Given the description of an element on the screen output the (x, y) to click on. 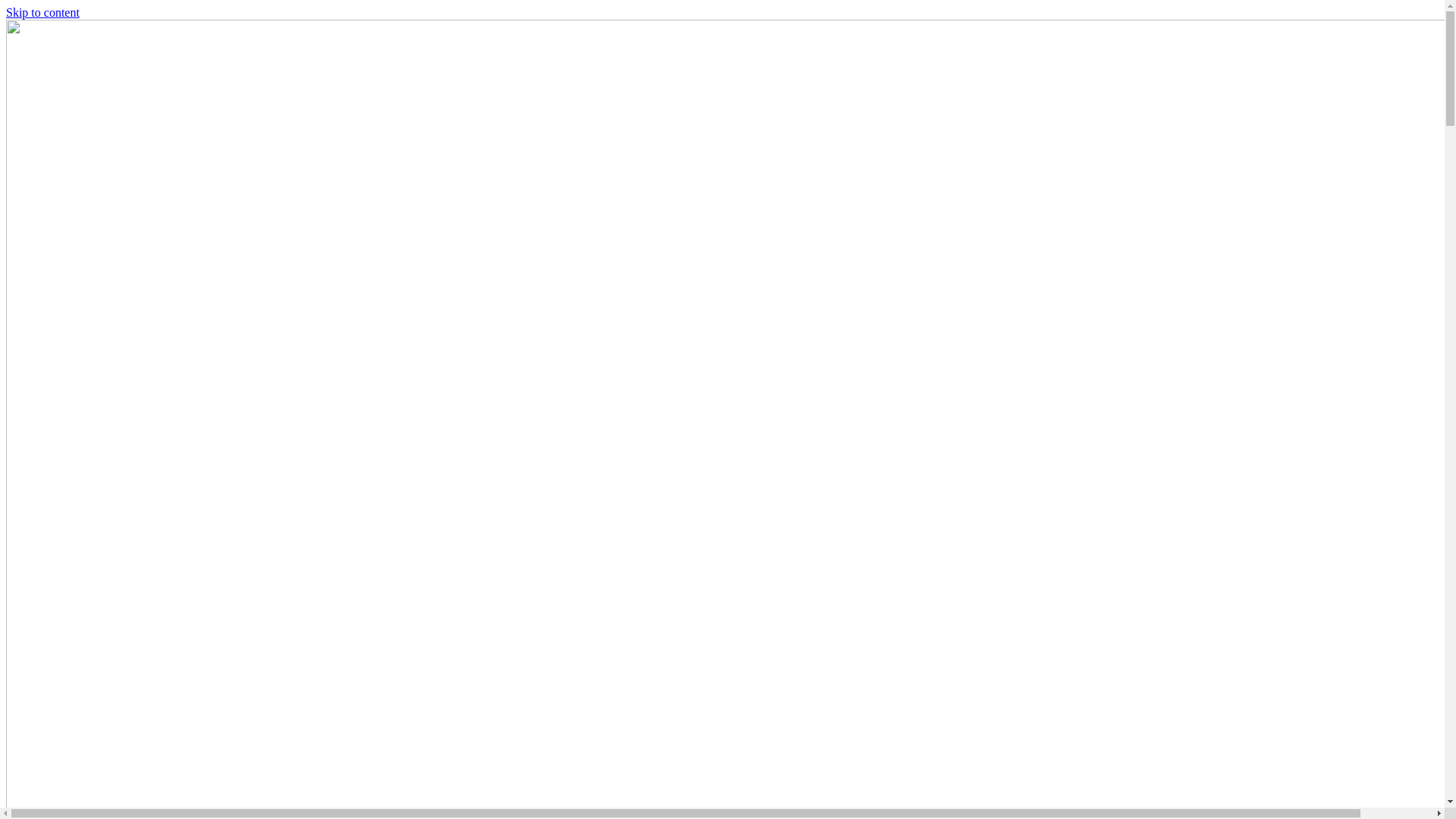
Skip to content Element type: text (42, 12)
